Given the description of an element on the screen output the (x, y) to click on. 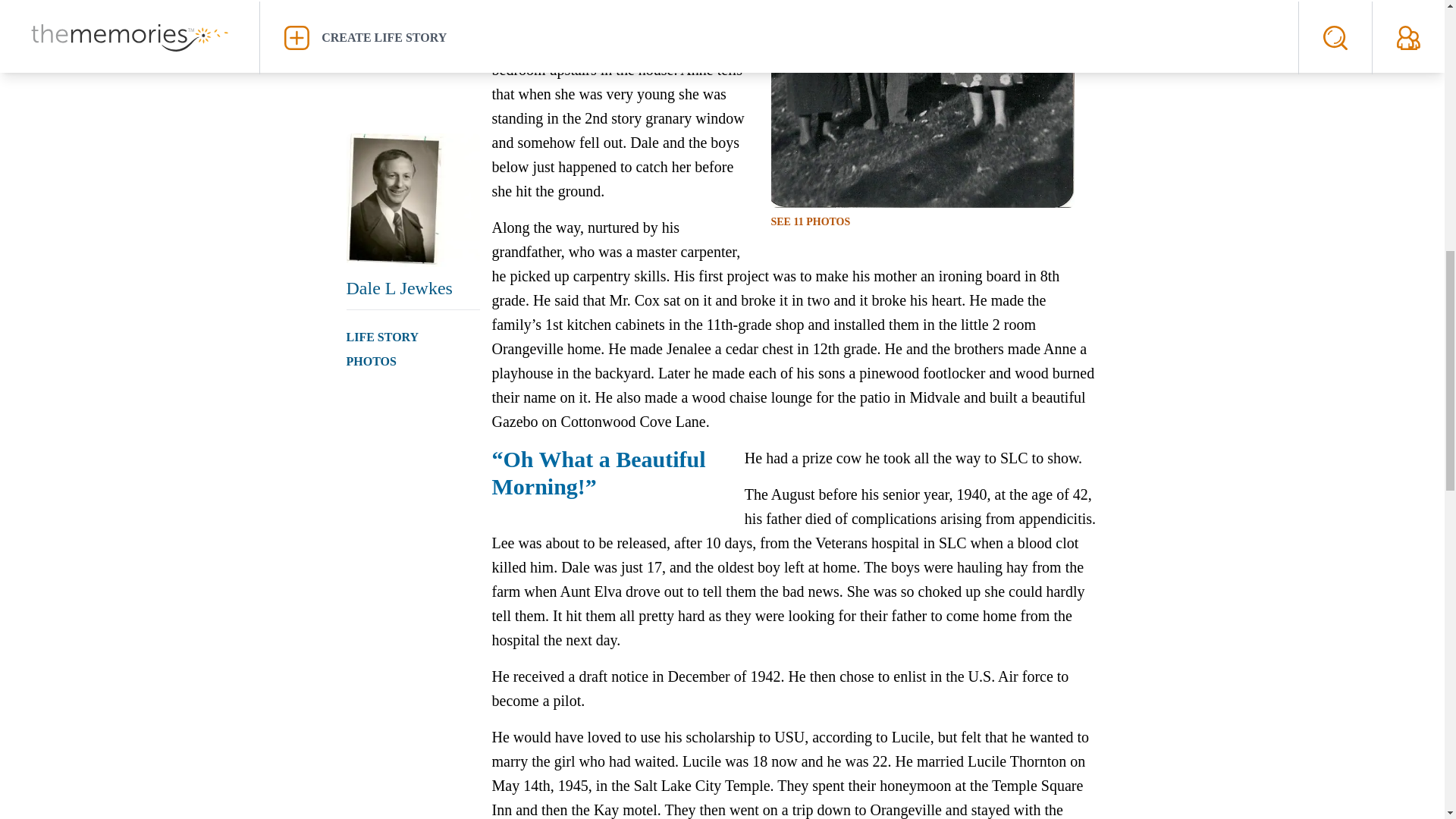
SEE 11 PHOTOS (810, 221)
